Given the description of an element on the screen output the (x, y) to click on. 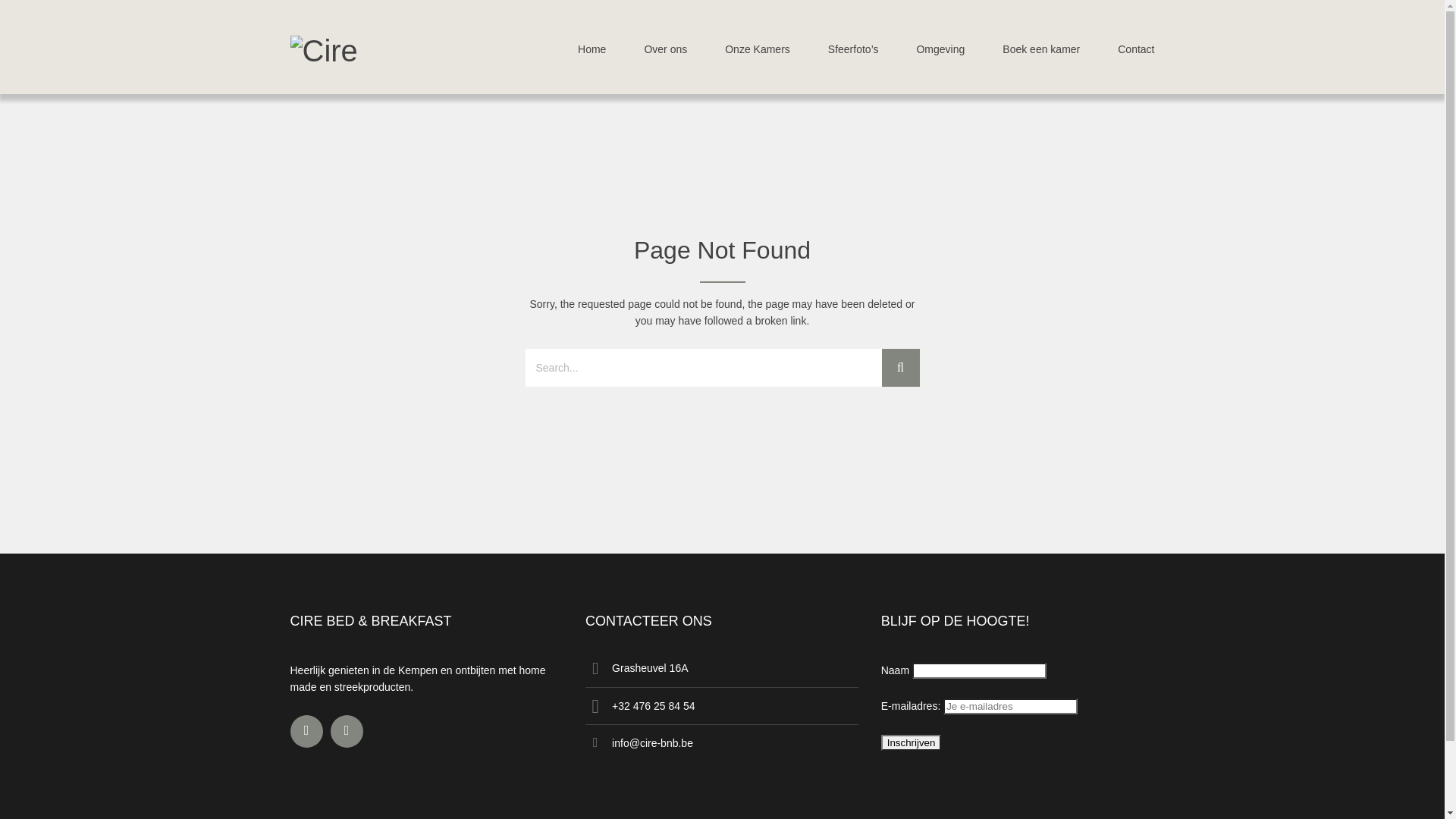
Home Element type: text (591, 52)
Boek een kamer Element type: text (1040, 52)
Contact Element type: text (1126, 52)
Onze Kamers Element type: text (757, 52)
Over ons Element type: text (665, 52)
Inschrijven Element type: text (911, 742)
Omgeving Element type: text (940, 52)
